Given the description of an element on the screen output the (x, y) to click on. 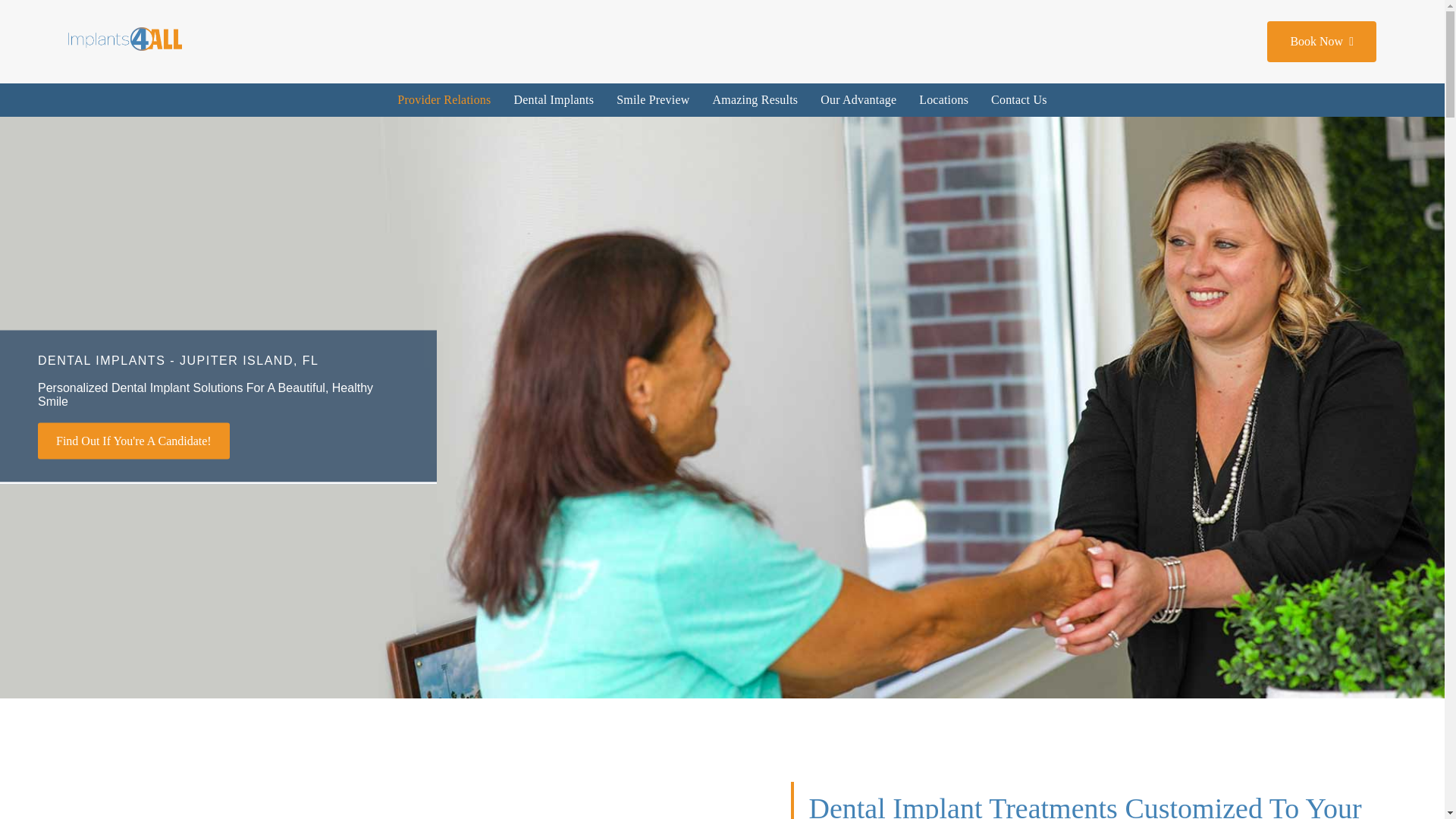
Provider Relations (443, 100)
Locations (943, 100)
Contact Us (1018, 100)
Book Now (1320, 41)
Our Advantage (858, 100)
Dental Implants (553, 100)
Smile Preview (652, 100)
Amazing Results (755, 100)
